Given the description of an element on the screen output the (x, y) to click on. 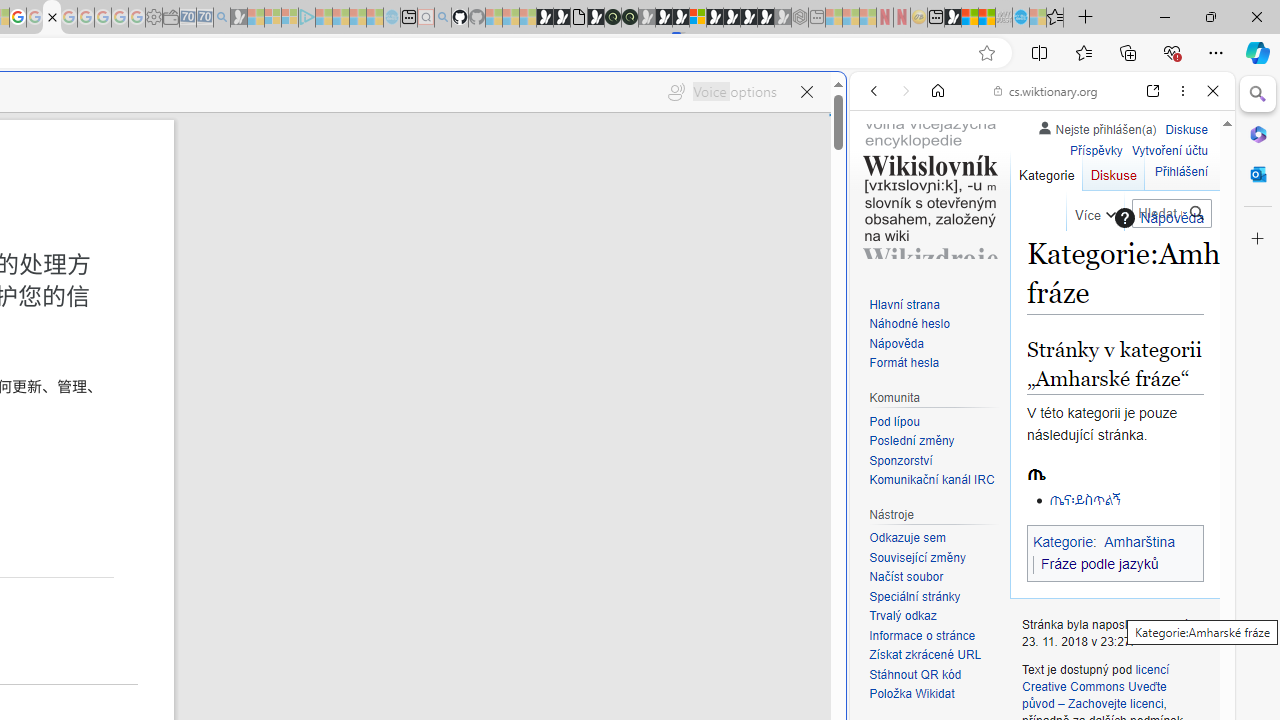
WEB   (882, 228)
Forward (906, 91)
Play Free Online Games | Games from Microsoft Start (731, 17)
Wiktionary (1034, 669)
Search the web (1051, 137)
